Given the description of an element on the screen output the (x, y) to click on. 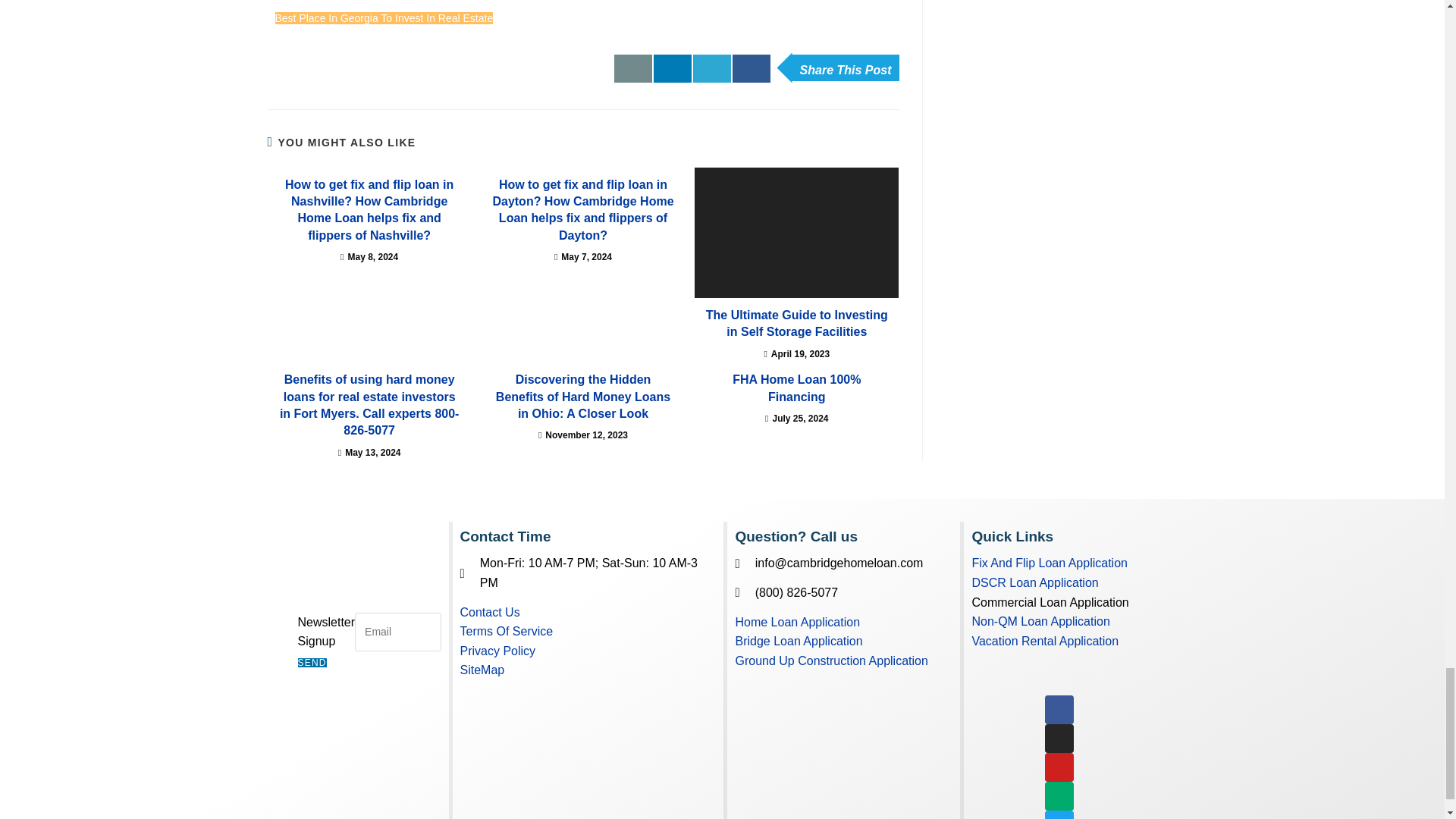
Share On Twitter (711, 68)
Share On Linkedin (672, 68)
The Ultimate Guide to Investing in Self Storage Facilities (796, 232)
Share This Post (844, 67)
Share On Facebook (751, 68)
Contact us (633, 68)
